Given the description of an element on the screen output the (x, y) to click on. 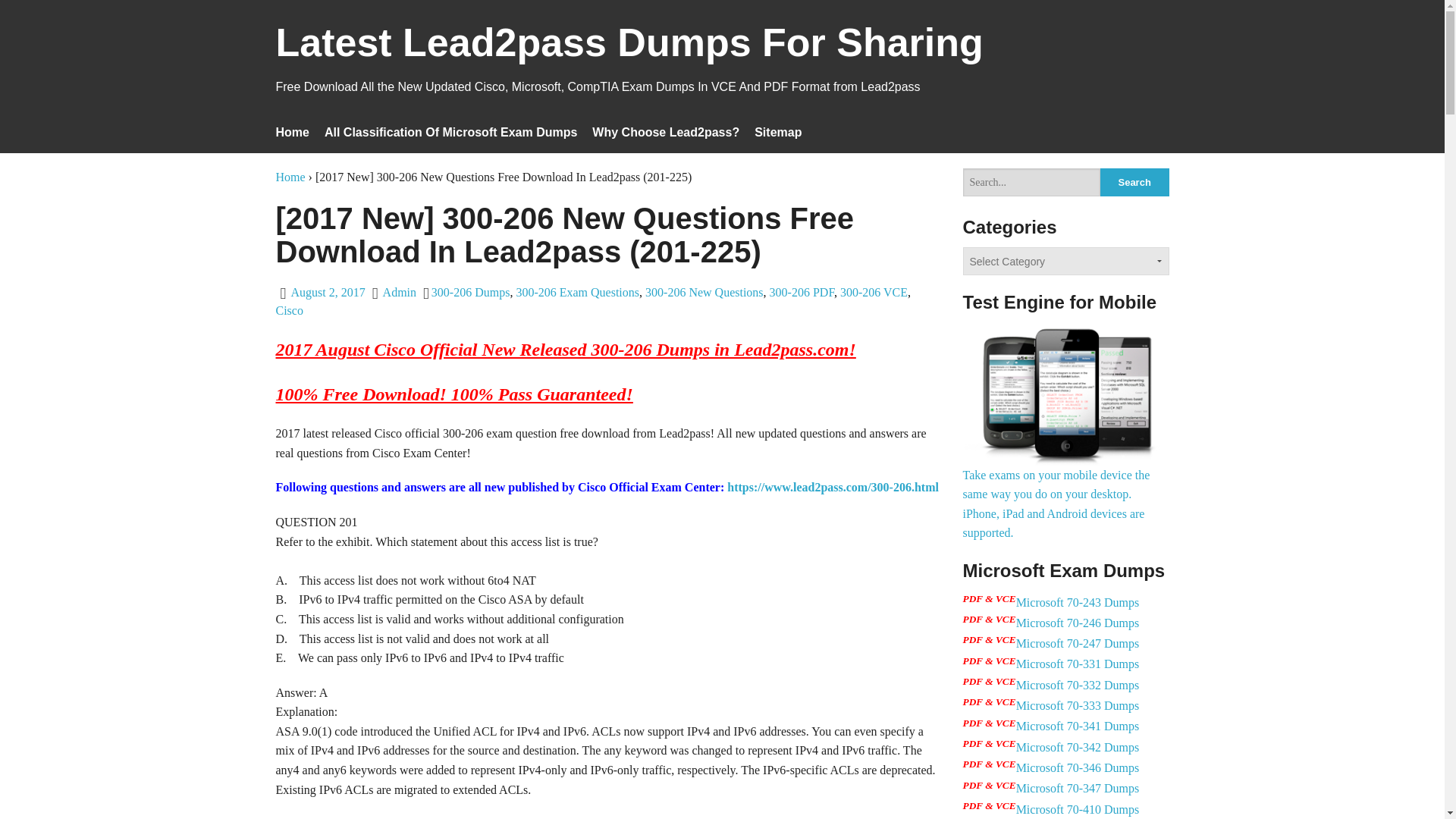
300-206 Dumps (470, 291)
300-206 Exam Questions (577, 291)
Latest Lead2pass Dumps For Sharing (630, 51)
Admin (399, 291)
Home (290, 176)
300-206 PDF (802, 291)
Sitemap (778, 132)
Search (1134, 182)
Search for: (1031, 182)
All Classification Of Microsoft Exam Dumps (450, 132)
